Given the description of an element on the screen output the (x, y) to click on. 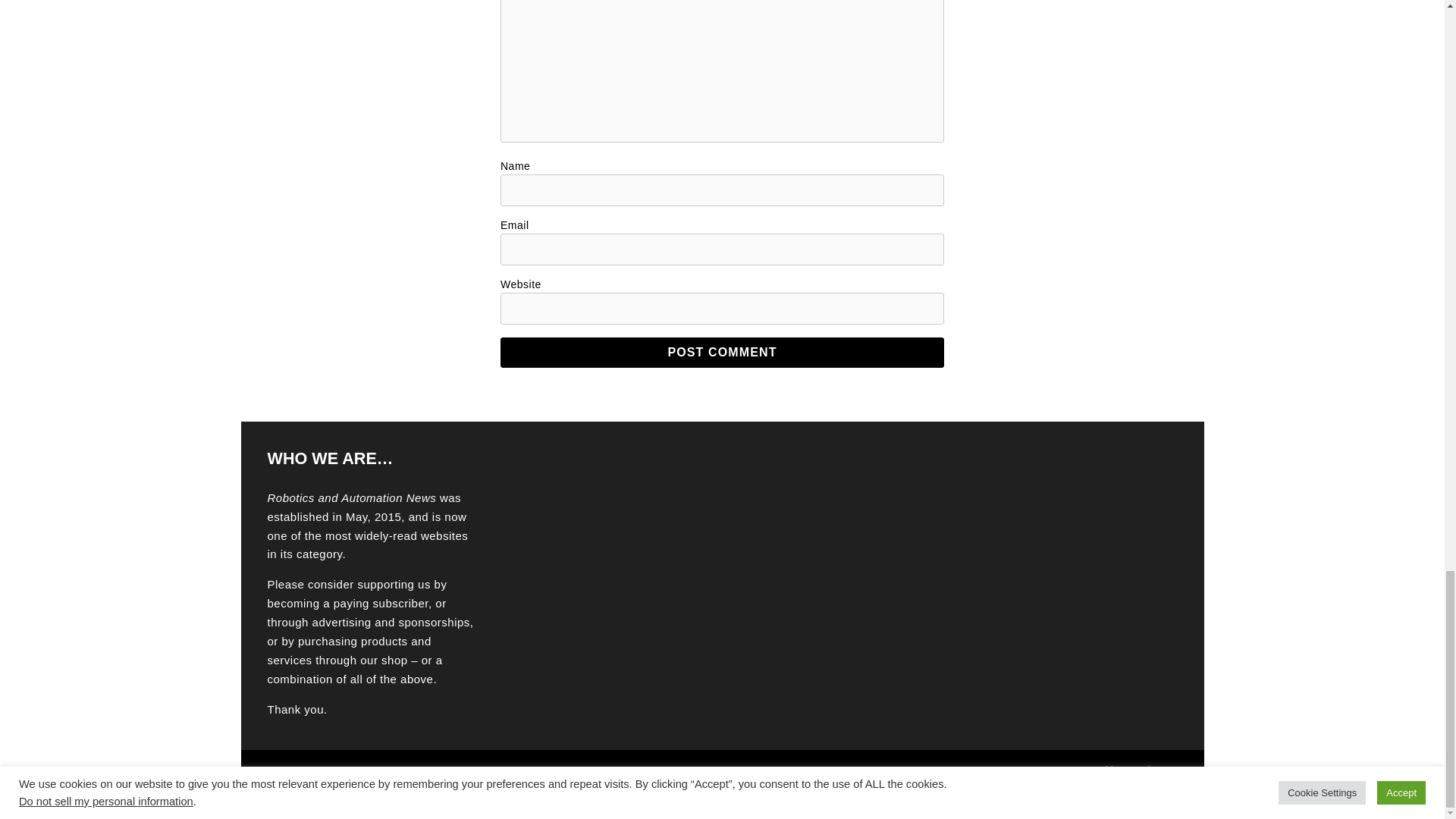
Post Comment (721, 352)
